Given the description of an element on the screen output the (x, y) to click on. 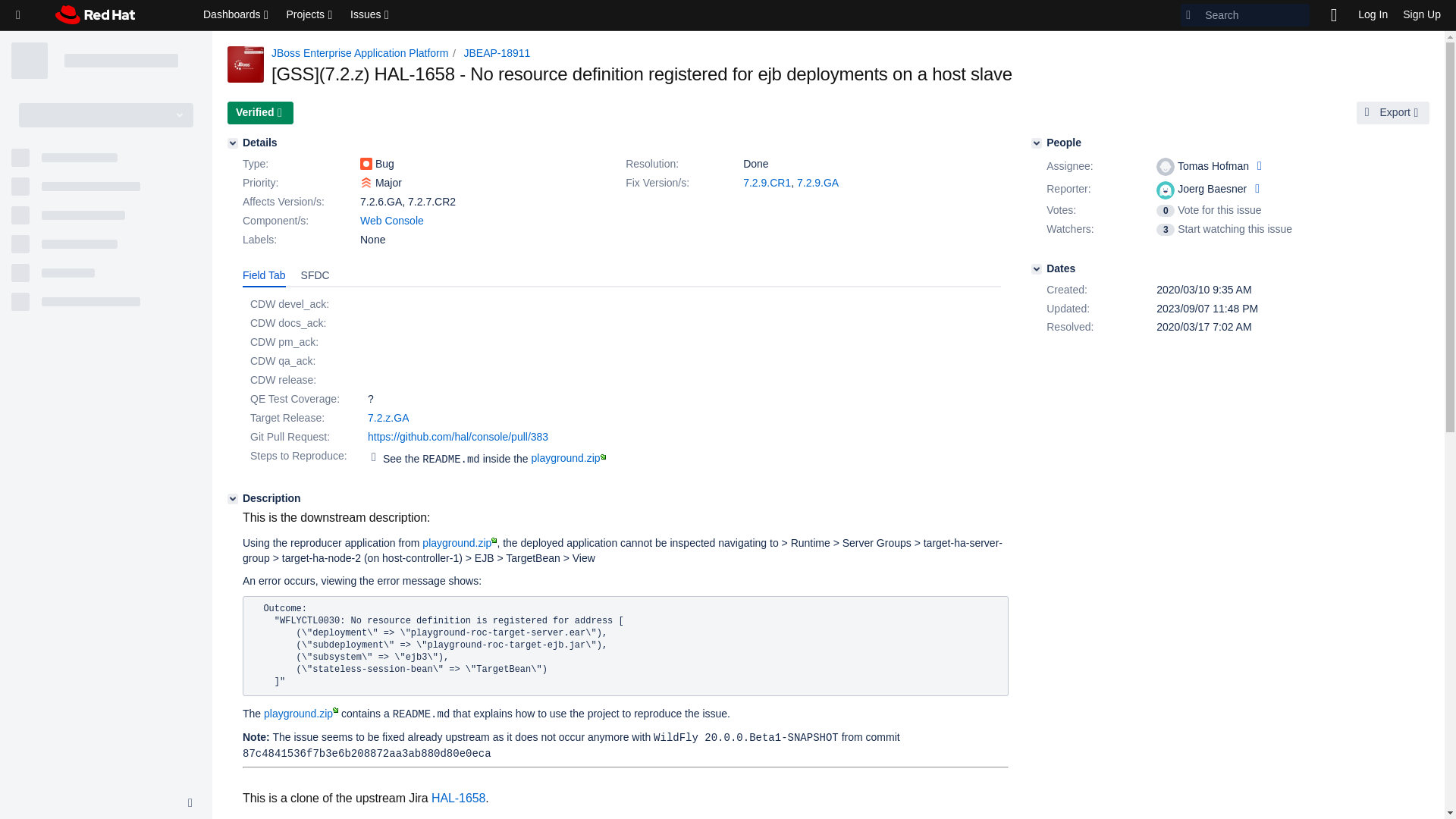
Web Console (391, 220)
playground.zip (459, 542)
Log In (1372, 15)
7.2.z.GA (388, 417)
Details (232, 143)
Dashboards (237, 15)
Sign Up (1421, 15)
7.2.9.CR1 (766, 182)
Export (1392, 112)
Issues (370, 15)
